Given the description of an element on the screen output the (x, y) to click on. 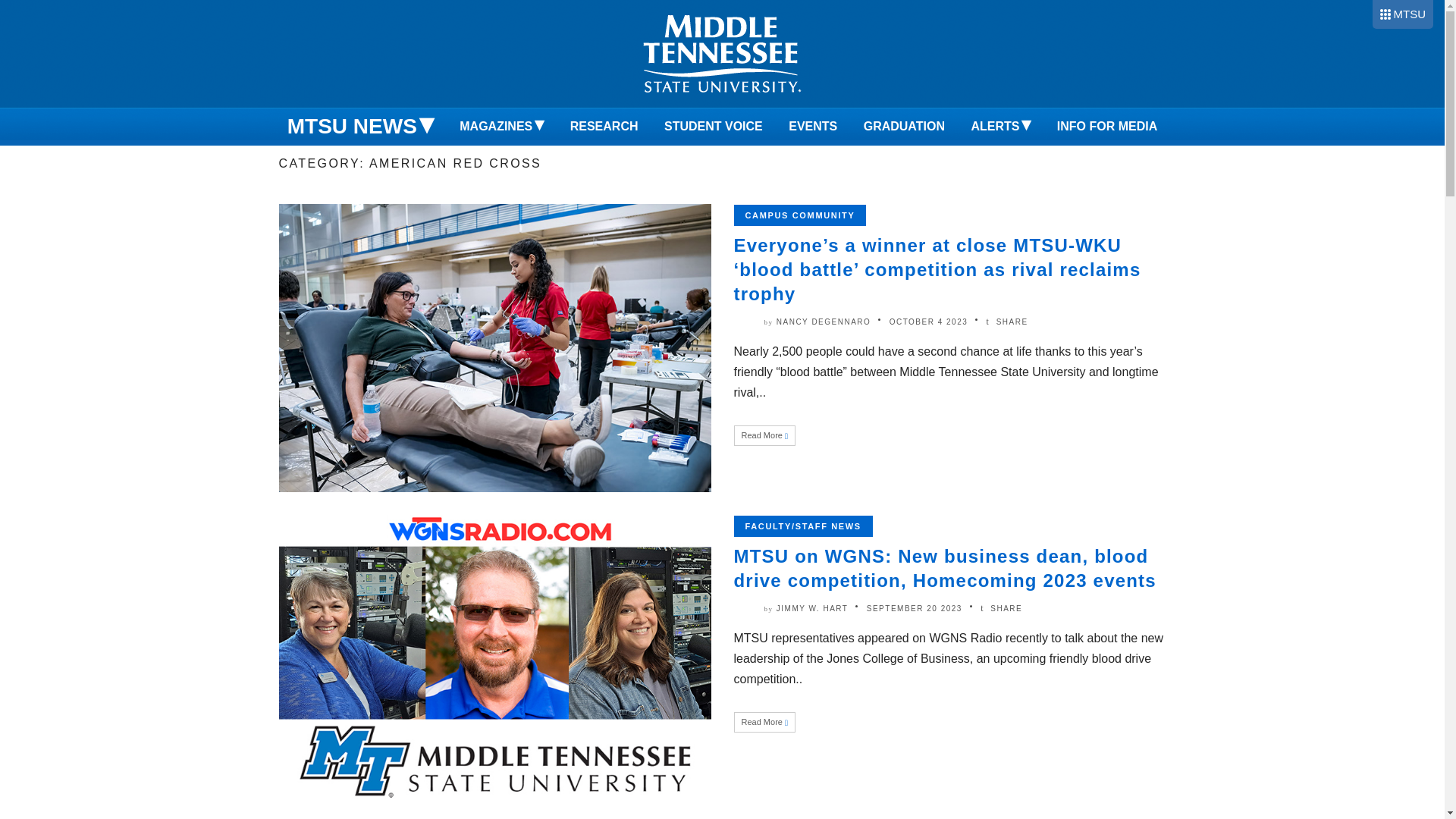
Posts by Nancy DeGennaro (823, 321)
October 4, 2023 3:19 (928, 321)
Posts by Jimmy W. Hart (812, 608)
September 20, 2023 1:04 (914, 608)
